Given the description of an element on the screen output the (x, y) to click on. 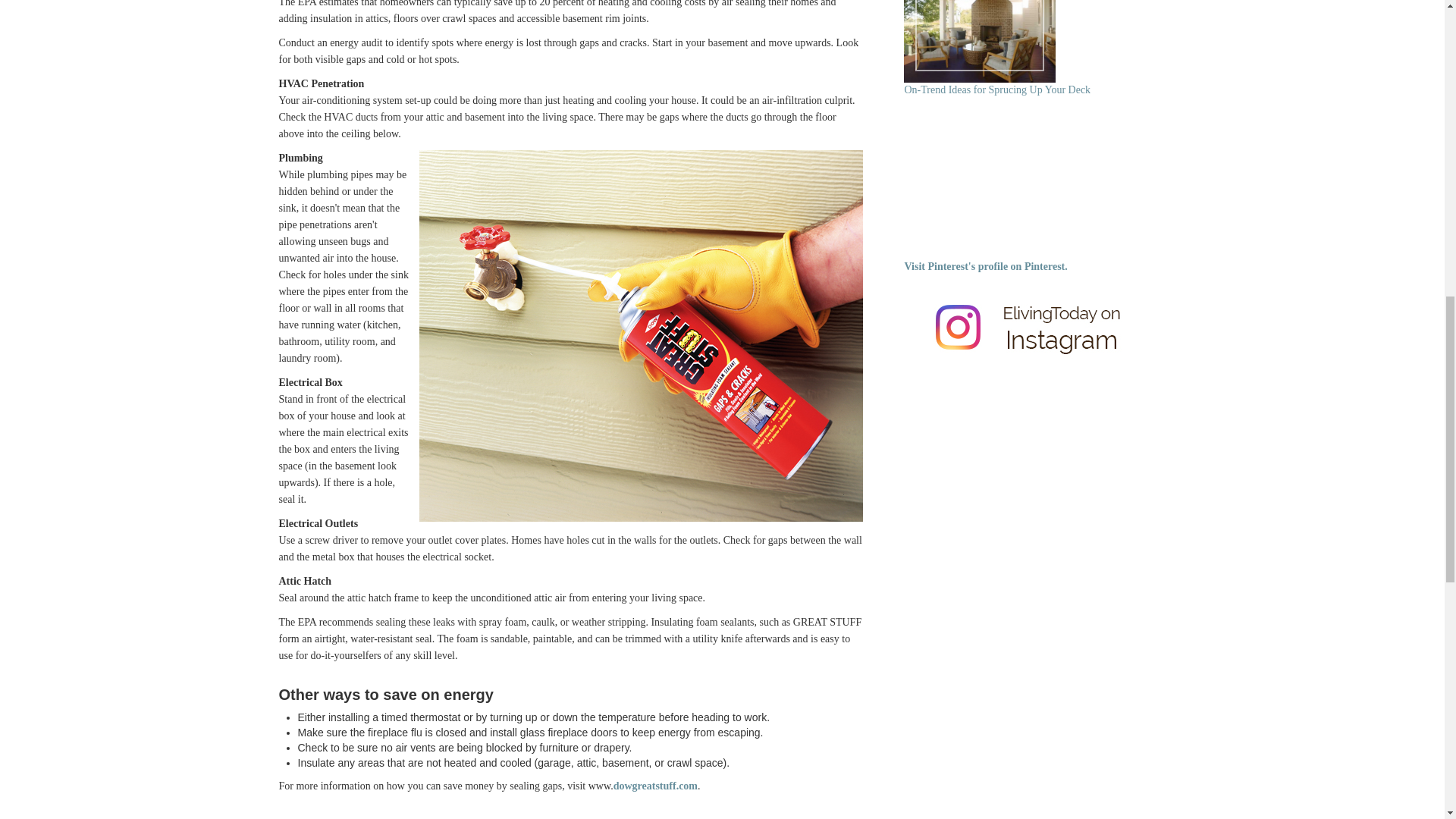
Continue reading (979, 40)
